Given the description of an element on the screen output the (x, y) to click on. 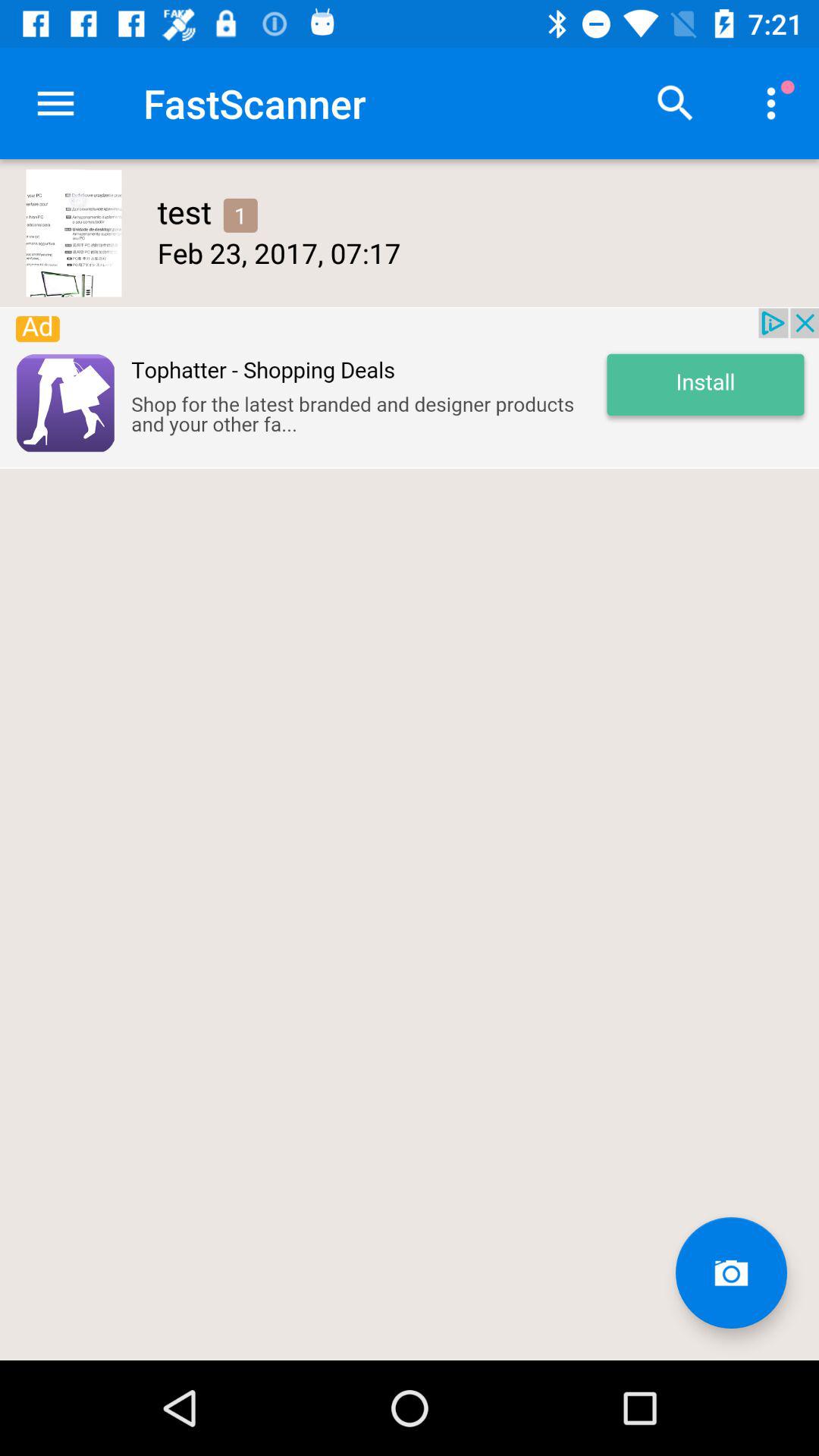
search for (675, 103)
